Given the description of an element on the screen output the (x, y) to click on. 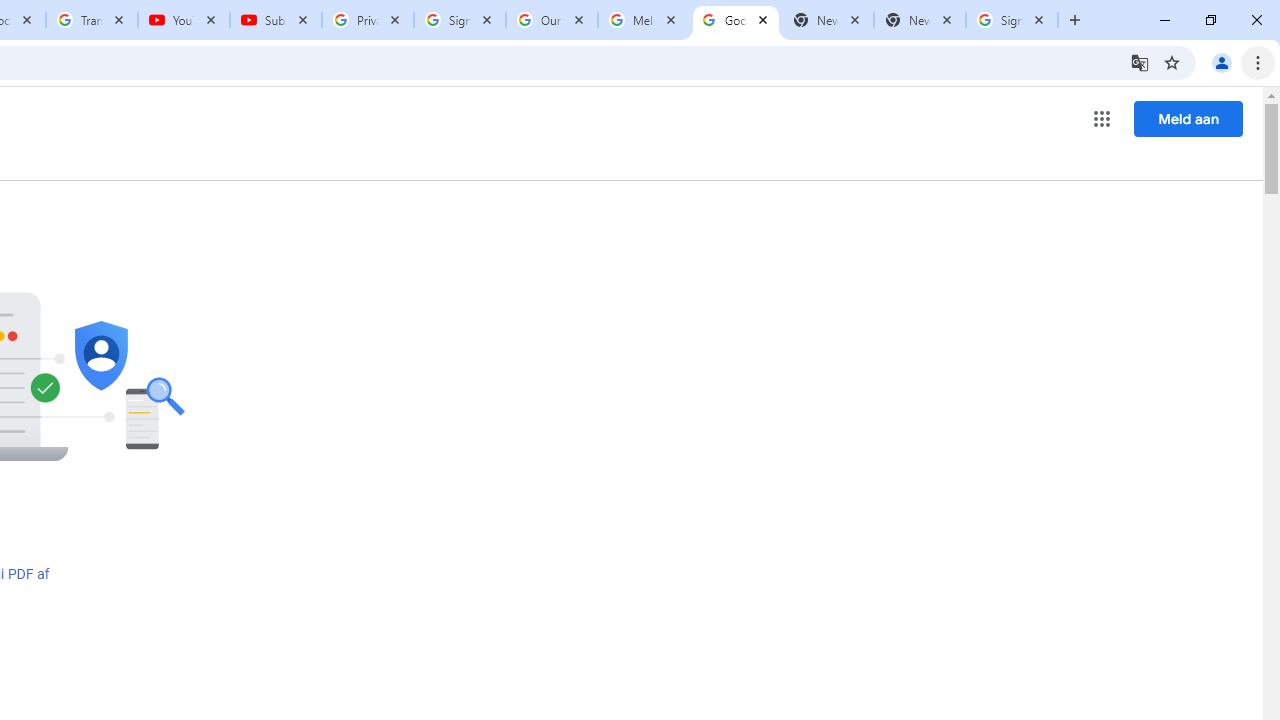
Google-programme (1101, 118)
